Given the description of an element on the screen output the (x, y) to click on. 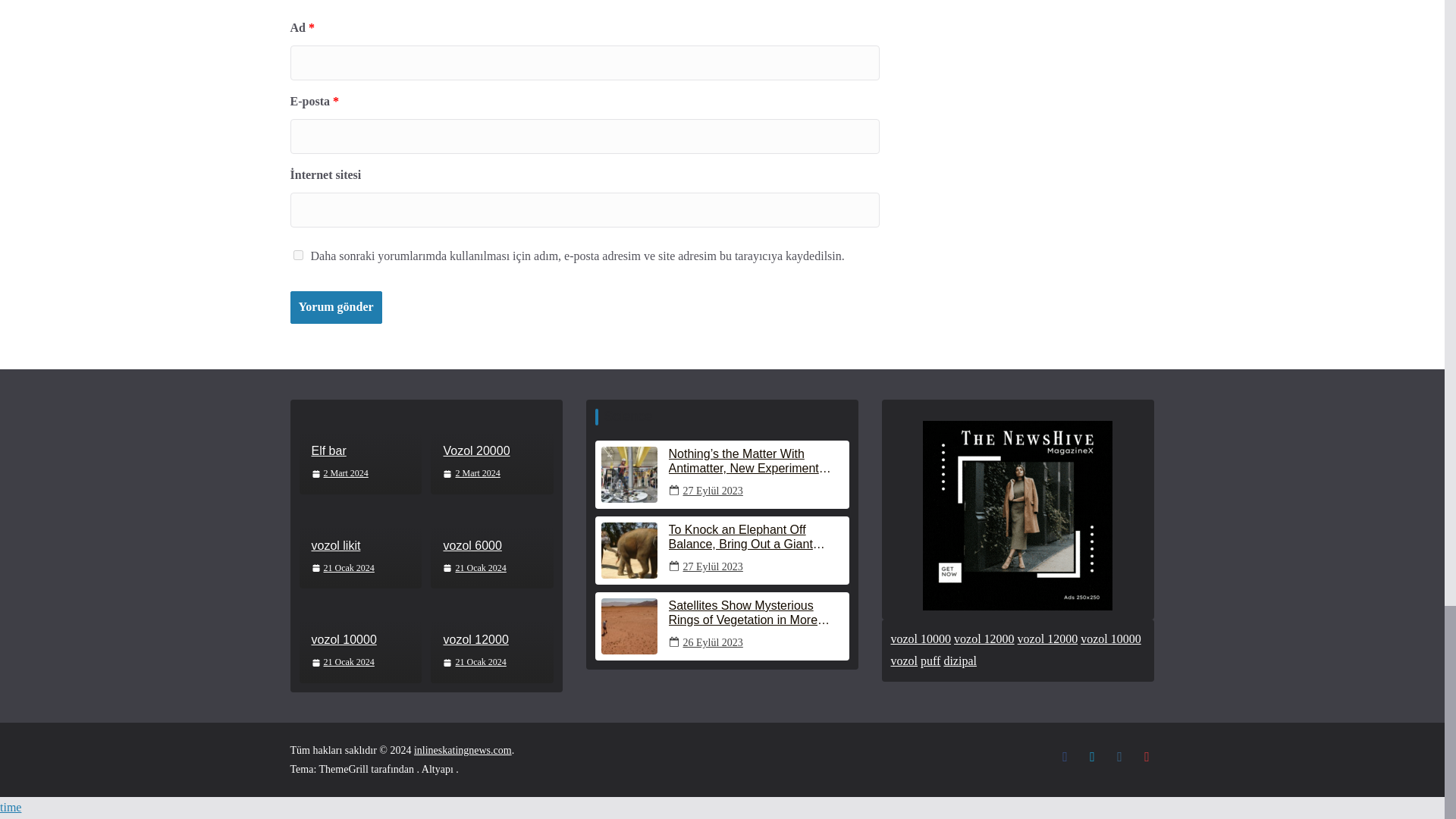
yes (297, 255)
vozol likit (360, 546)
17:27 (339, 474)
Elf bar (360, 451)
17:25 (470, 474)
vozol 6000 (491, 546)
17:40 (342, 567)
Vozol 20000 (491, 451)
